Given the description of an element on the screen output the (x, y) to click on. 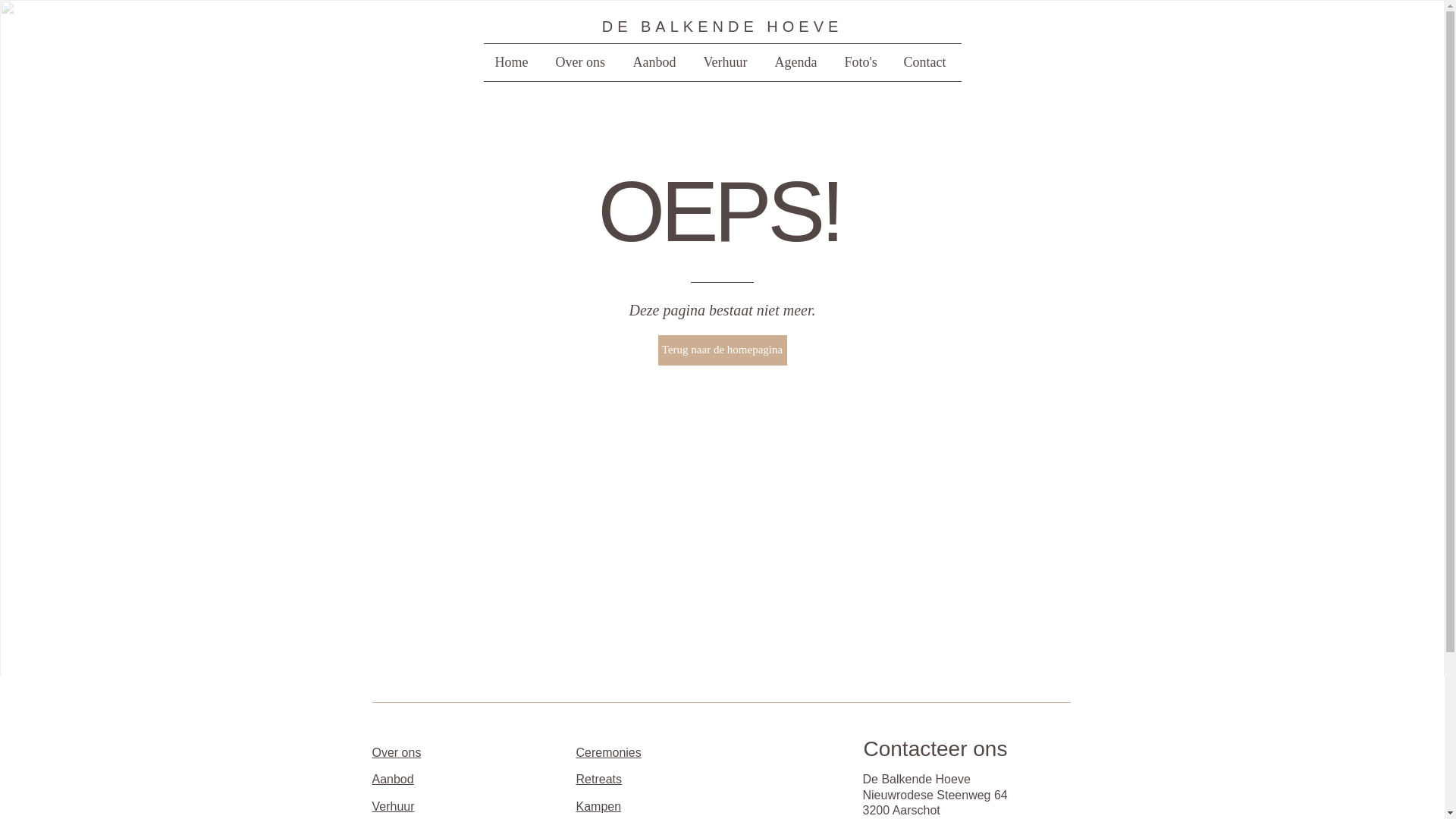
Terug naar de homepagina Element type: text (722, 350)
Agenda Element type: text (797, 62)
Ceremonies Element type: text (608, 752)
Over ons Element type: text (395, 752)
Retreats Element type: text (598, 778)
Home Element type: text (513, 62)
Foto's Element type: text (861, 62)
Contact Element type: text (925, 62)
DE BALKENDE HOEVE Element type: text (722, 26)
Aanbod Element type: text (656, 62)
Kampen Element type: text (598, 806)
Over ons Element type: text (582, 62)
Verhuur Element type: text (392, 806)
Aanbod Element type: text (392, 778)
Verhuur Element type: text (726, 62)
